Given the description of an element on the screen output the (x, y) to click on. 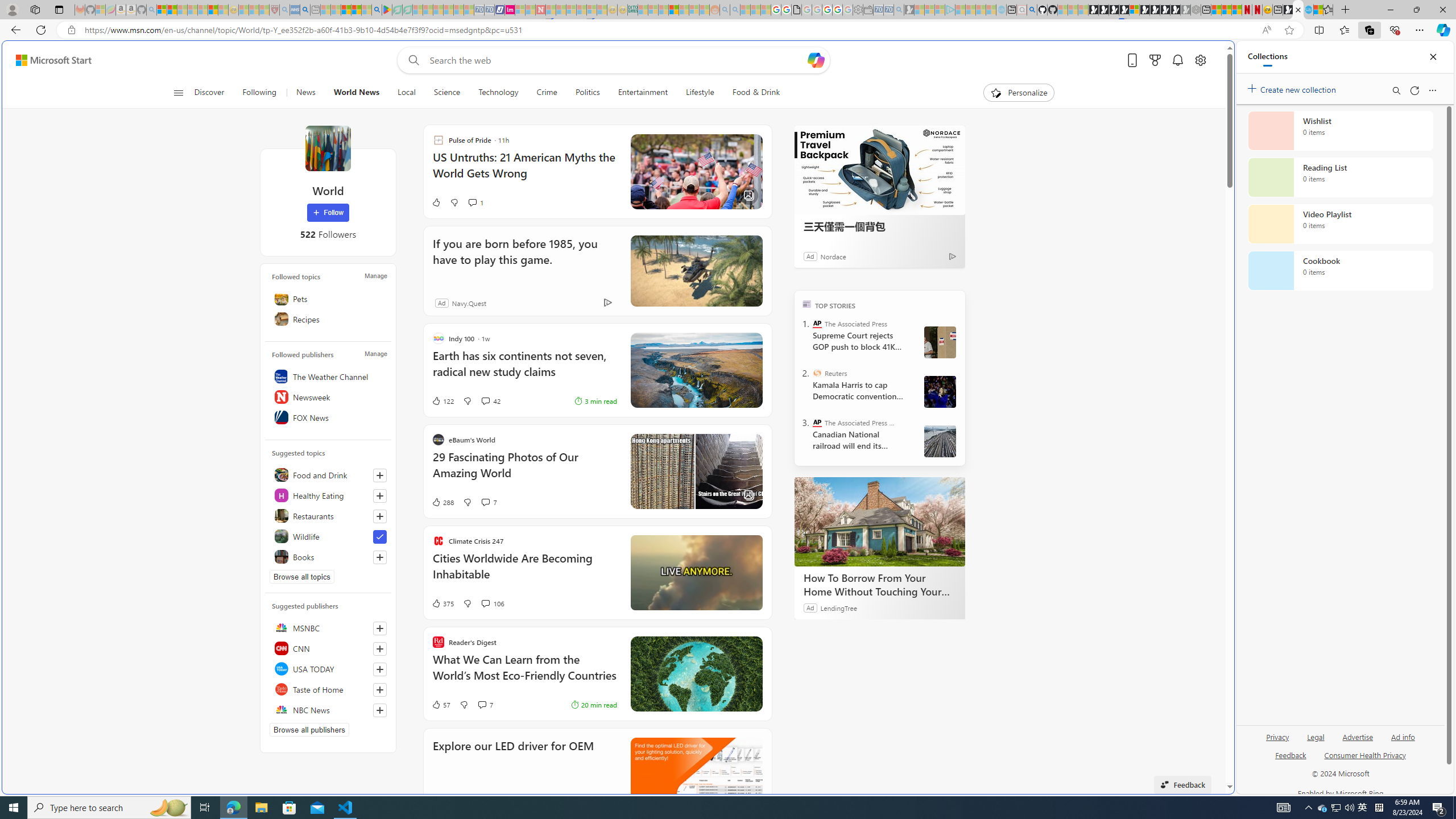
Close split screen (1208, 57)
USA TODAY (327, 668)
Food and Drink (327, 474)
FOX News (327, 417)
World (327, 148)
Follow this source (379, 710)
github - Search (1032, 9)
Earth has six continents not seven, radical new study claims (524, 369)
